Given the description of an element on the screen output the (x, y) to click on. 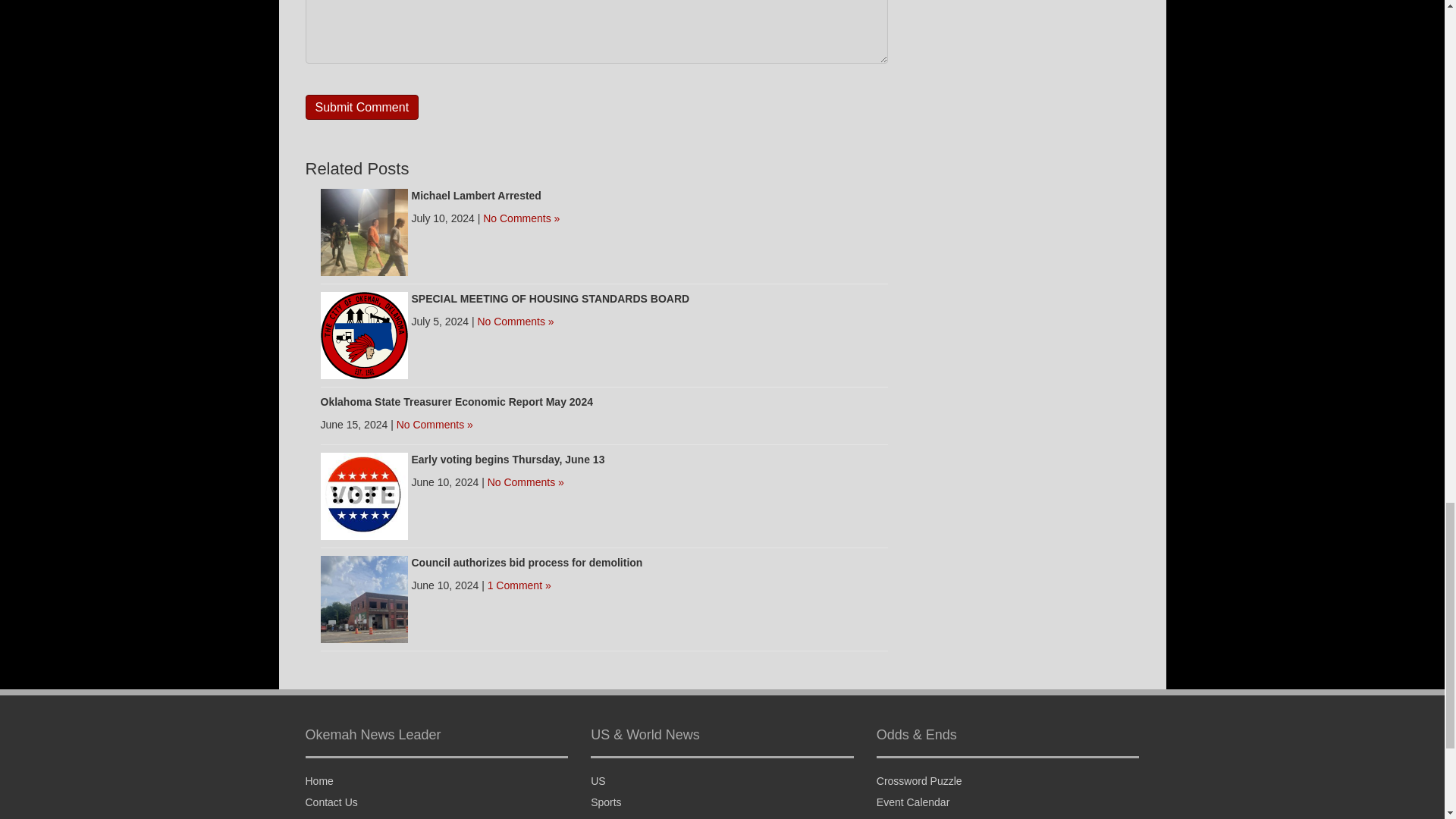
Michael Lambert Arrested (475, 195)
Submit Comment (361, 107)
SPECIAL MEETING OF HOUSING STANDARDS BOARD (549, 298)
Early voting begins Thursday, June 13 (363, 494)
Council authorizes bid process for demolition (526, 562)
Michael Lambert Arrested (363, 231)
Council authorizes bid process for demolition (363, 598)
Early voting begins Thursday, June 13 (507, 459)
SPECIAL MEETING OF HOUSING STANDARDS BOARD (363, 334)
Oklahoma State Treasurer Economic Report May 2024 (456, 401)
